Given the description of an element on the screen output the (x, y) to click on. 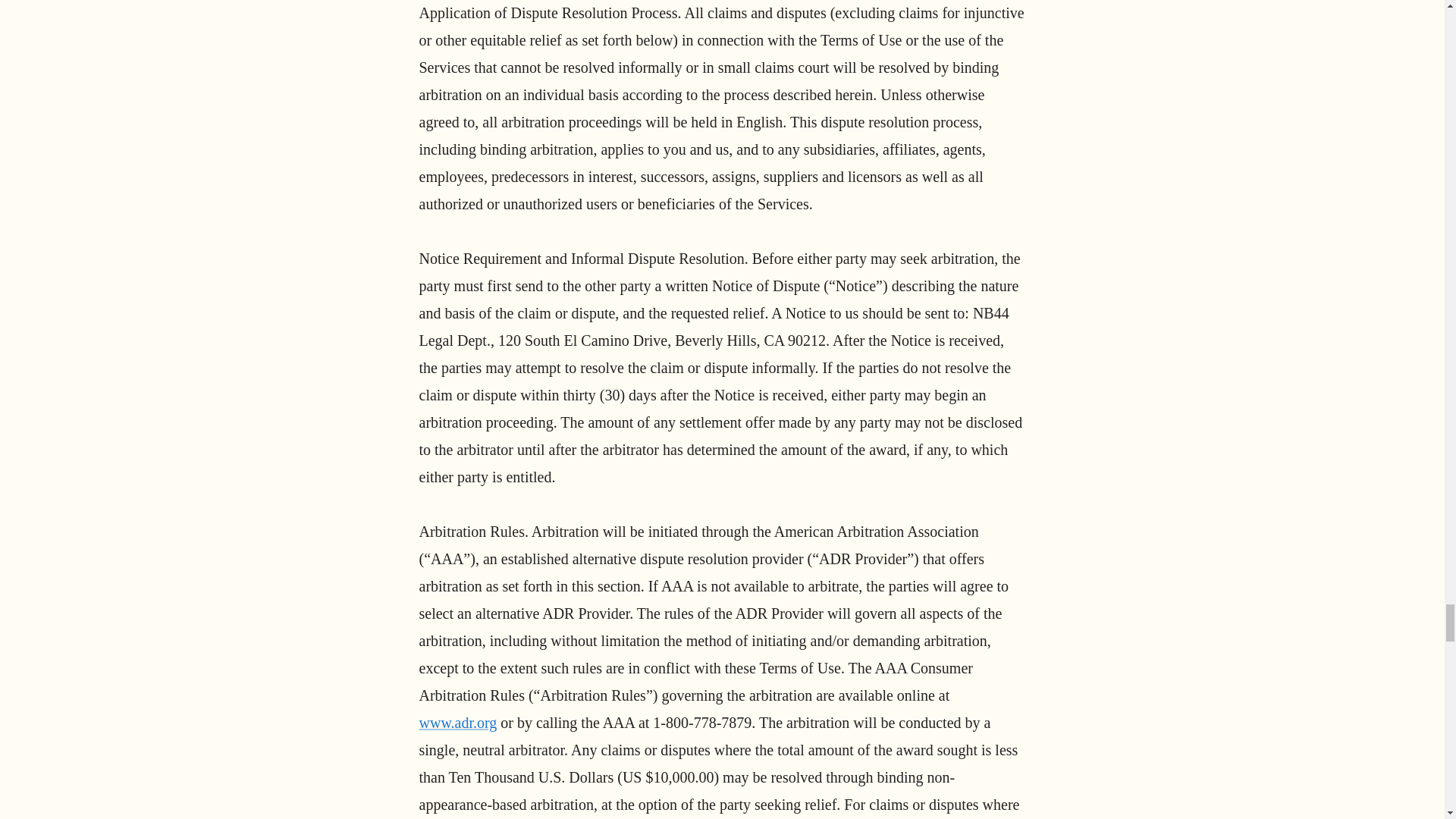
www.adr.org (457, 722)
